Given the description of an element on the screen output the (x, y) to click on. 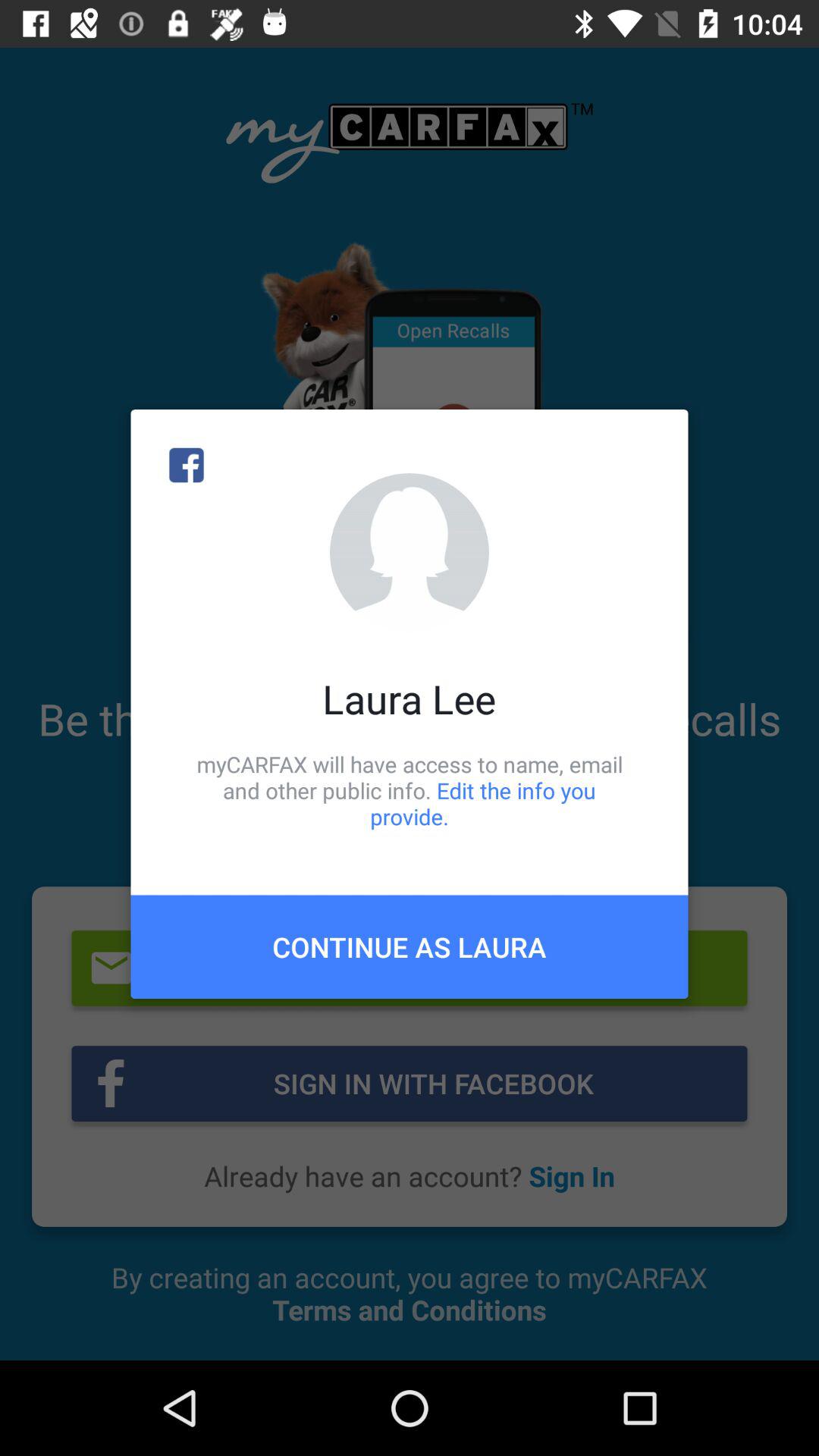
tap item below the mycarfax will have (409, 946)
